Given the description of an element on the screen output the (x, y) to click on. 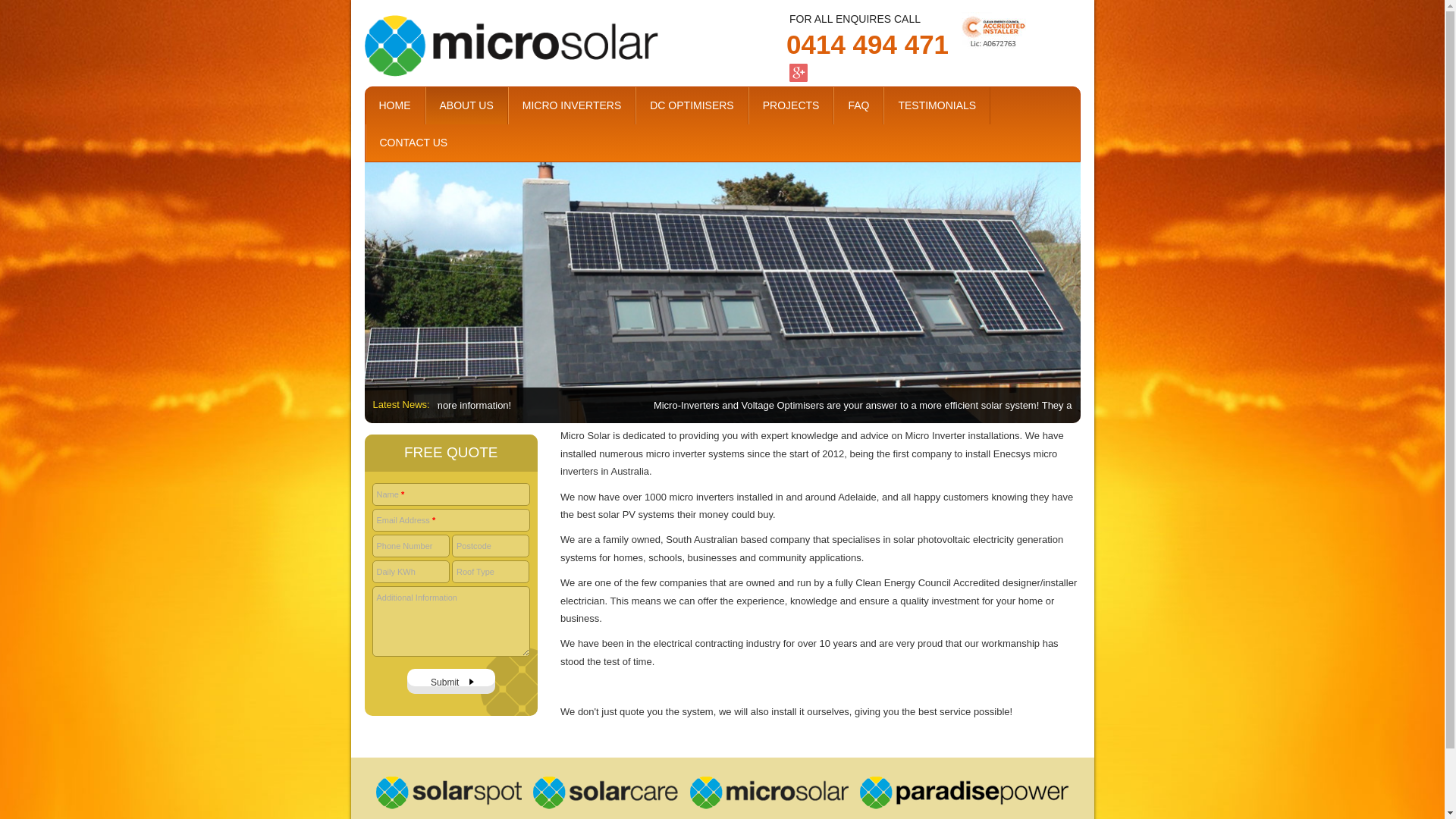
CONTACT US Element type: text (413, 142)
PROJECTS Element type: text (791, 105)
MICRO INVERTERS Element type: text (571, 105)
DC OPTIMISERS Element type: text (691, 105)
Submit Element type: text (451, 680)
FAQ Element type: text (858, 105)
ABOUT US Element type: text (466, 105)
HOME Element type: text (394, 105)
TESTIMONIALS Element type: text (936, 105)
